Given the description of an element on the screen output the (x, y) to click on. 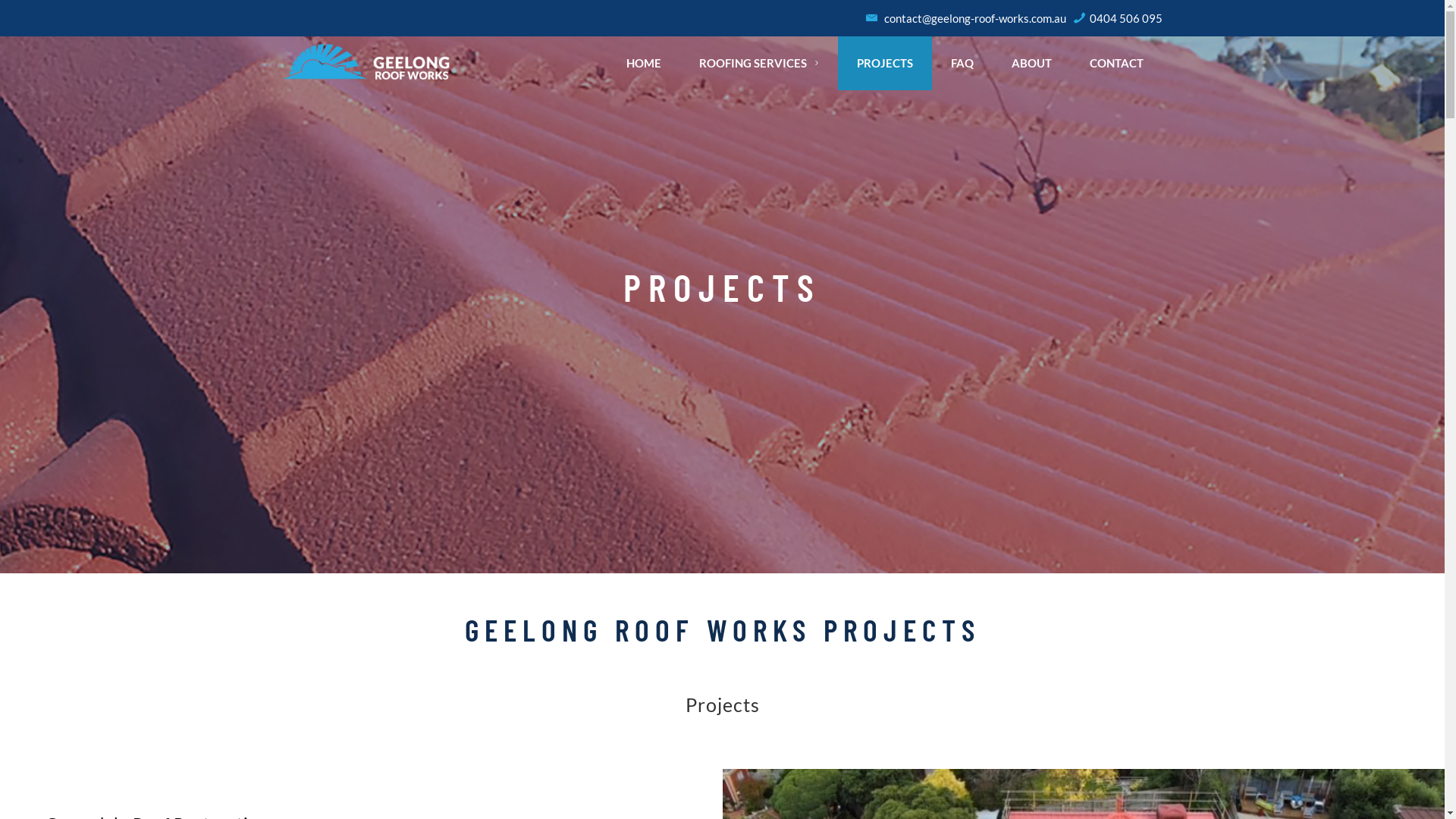
PROJECTS Element type: text (884, 63)
ROOFING SERVICES Element type: text (758, 63)
  contact@geelong-roof-works.com.au Element type: text (966, 18)
ABOUT Element type: text (1031, 63)
HOME Element type: text (643, 63)
FAQ Element type: text (962, 63)
CONTACT Element type: text (1115, 63)
 0404 506 095 Element type: text (1117, 18)
